Given the description of an element on the screen output the (x, y) to click on. 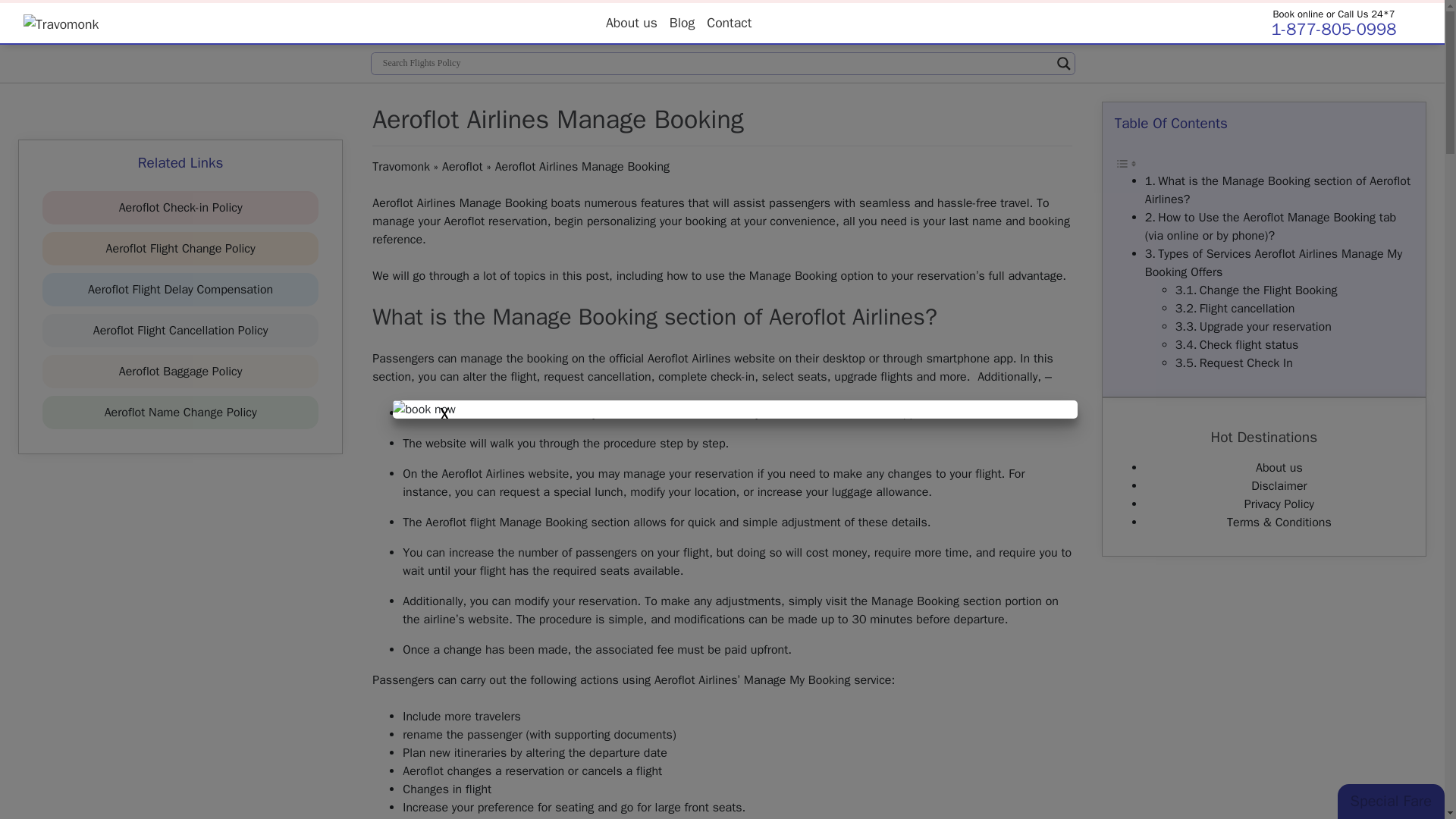
Contact (728, 22)
Aeroflot Flight Delay Compensation (180, 289)
About us (631, 22)
Aeroflot Baggage Policy (181, 371)
Aeroflot Name Change Policy (180, 412)
Aeroflot (462, 166)
Travomonk (400, 166)
Aeroflot Check-in Policy (181, 207)
About us (631, 22)
Blog (681, 22)
